Given the description of an element on the screen output the (x, y) to click on. 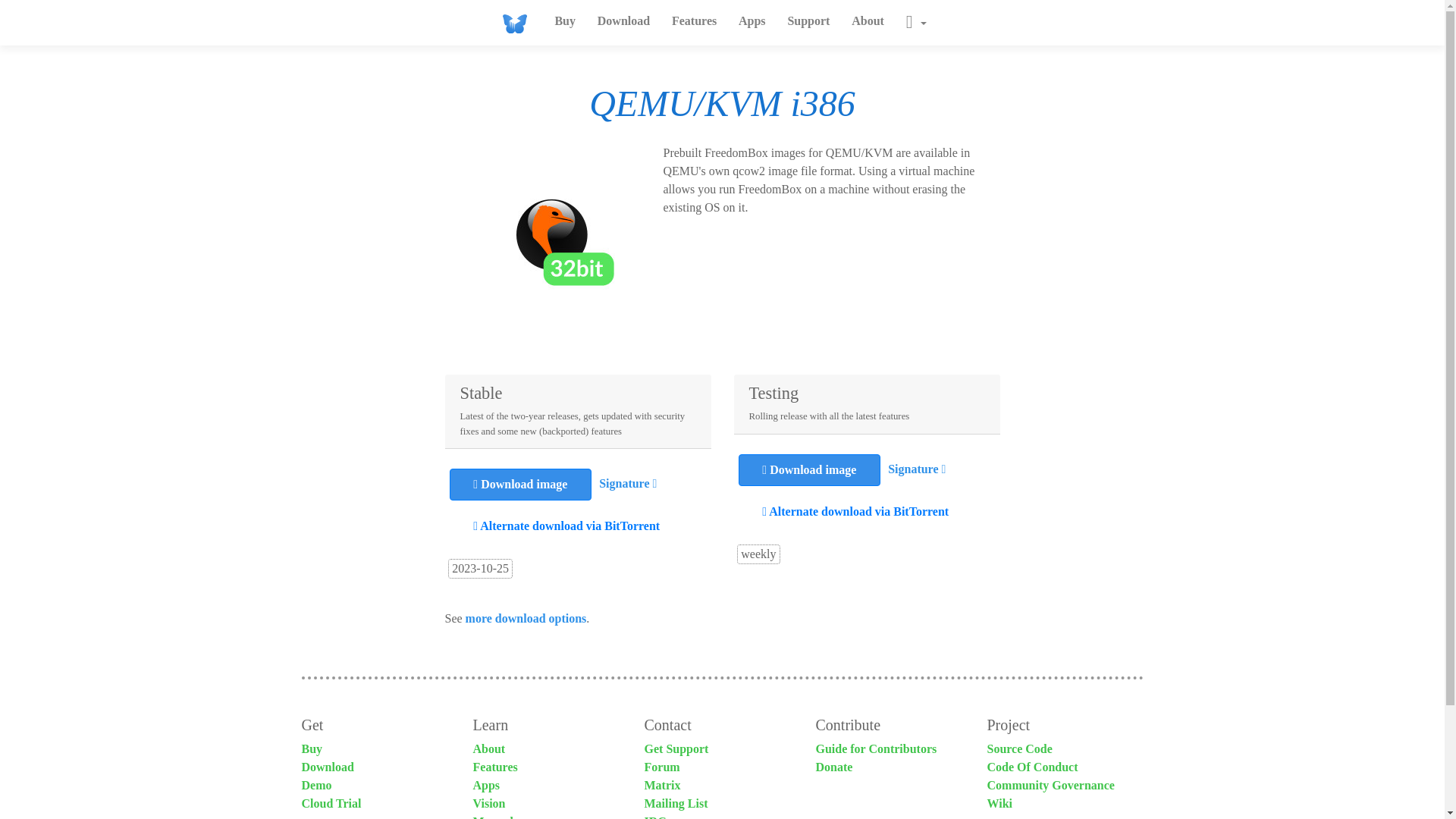
Support (807, 20)
Signature (912, 468)
Download image (520, 484)
Buy (564, 20)
Demo (316, 784)
Signature (623, 482)
Download image (809, 470)
Alternate download via BitTorrent (566, 526)
Alternate download via BitTorrent (855, 511)
more download options (525, 617)
